Given the description of an element on the screen output the (x, y) to click on. 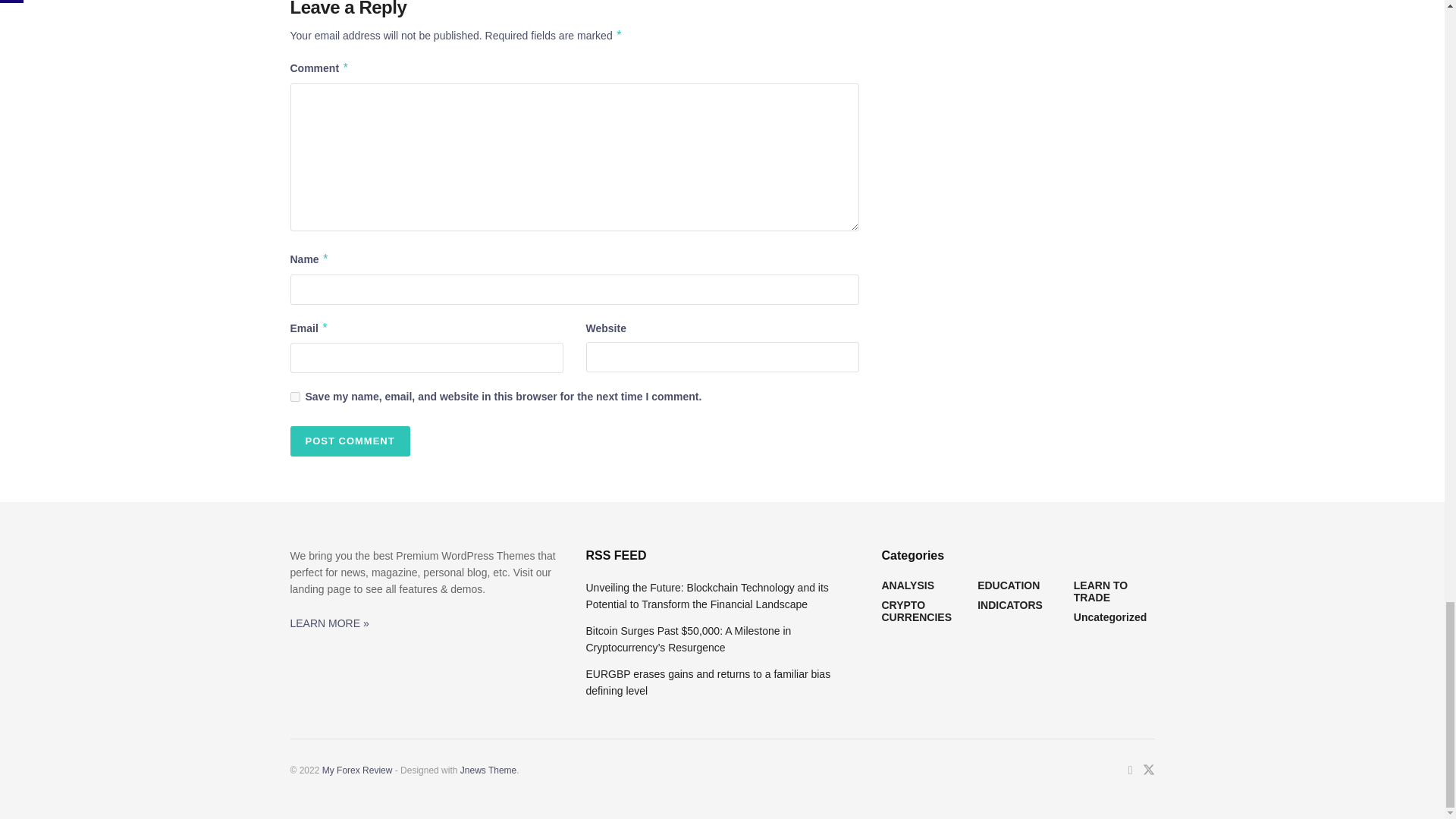
My Forex Review (357, 769)
Jnews Theme (488, 769)
Post Comment (349, 440)
yes (294, 397)
